Given the description of an element on the screen output the (x, y) to click on. 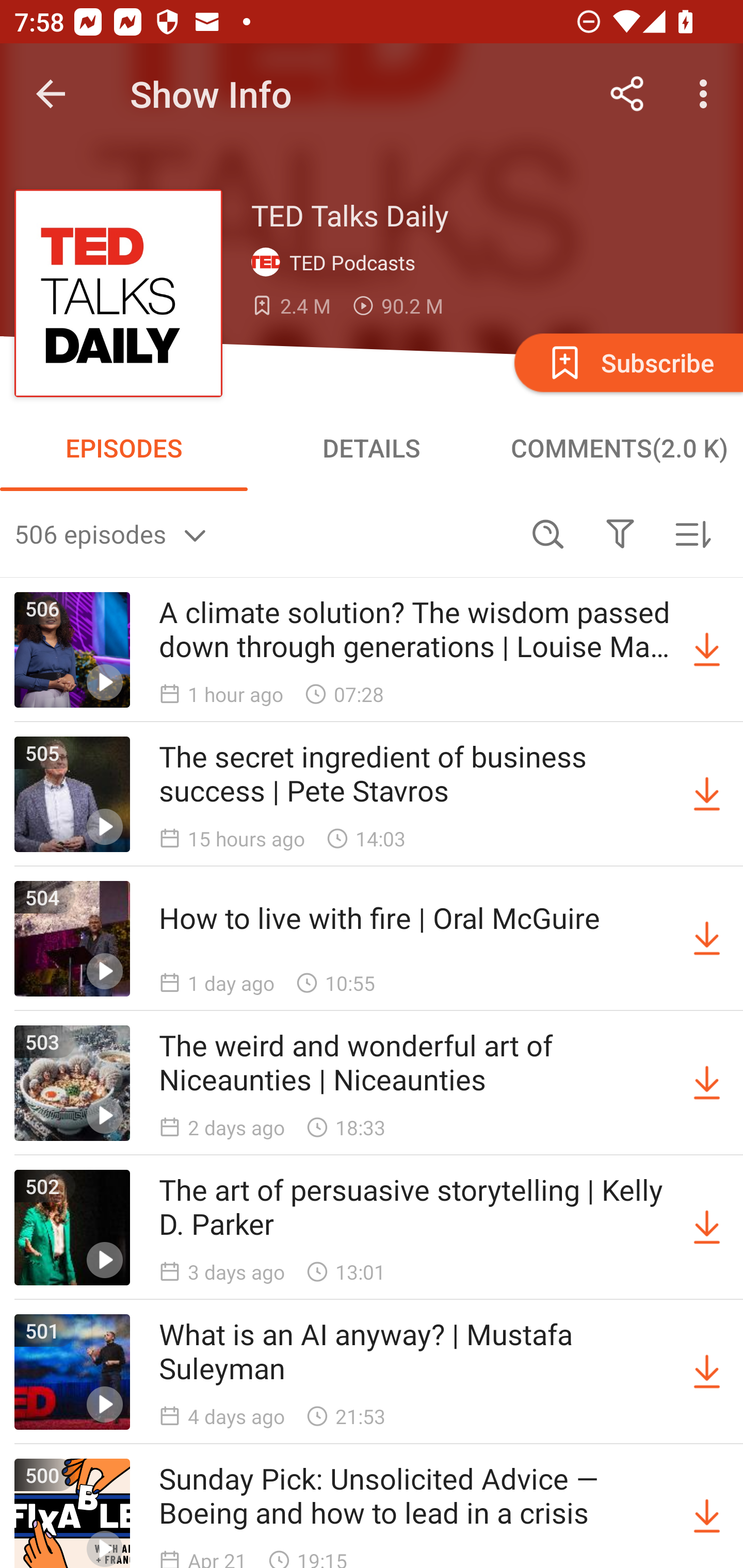
Navigate up (50, 93)
Share (626, 93)
More options (706, 93)
TED Podcasts (337, 262)
Subscribe (627, 361)
EPISODES (123, 447)
DETAILS (371, 447)
COMMENTS(2.0 K) (619, 447)
506 episodes  (262, 533)
 Search (547, 533)
 (619, 533)
 Sorted by newest first (692, 533)
Download (706, 649)
Download (706, 793)
